Given the description of an element on the screen output the (x, y) to click on. 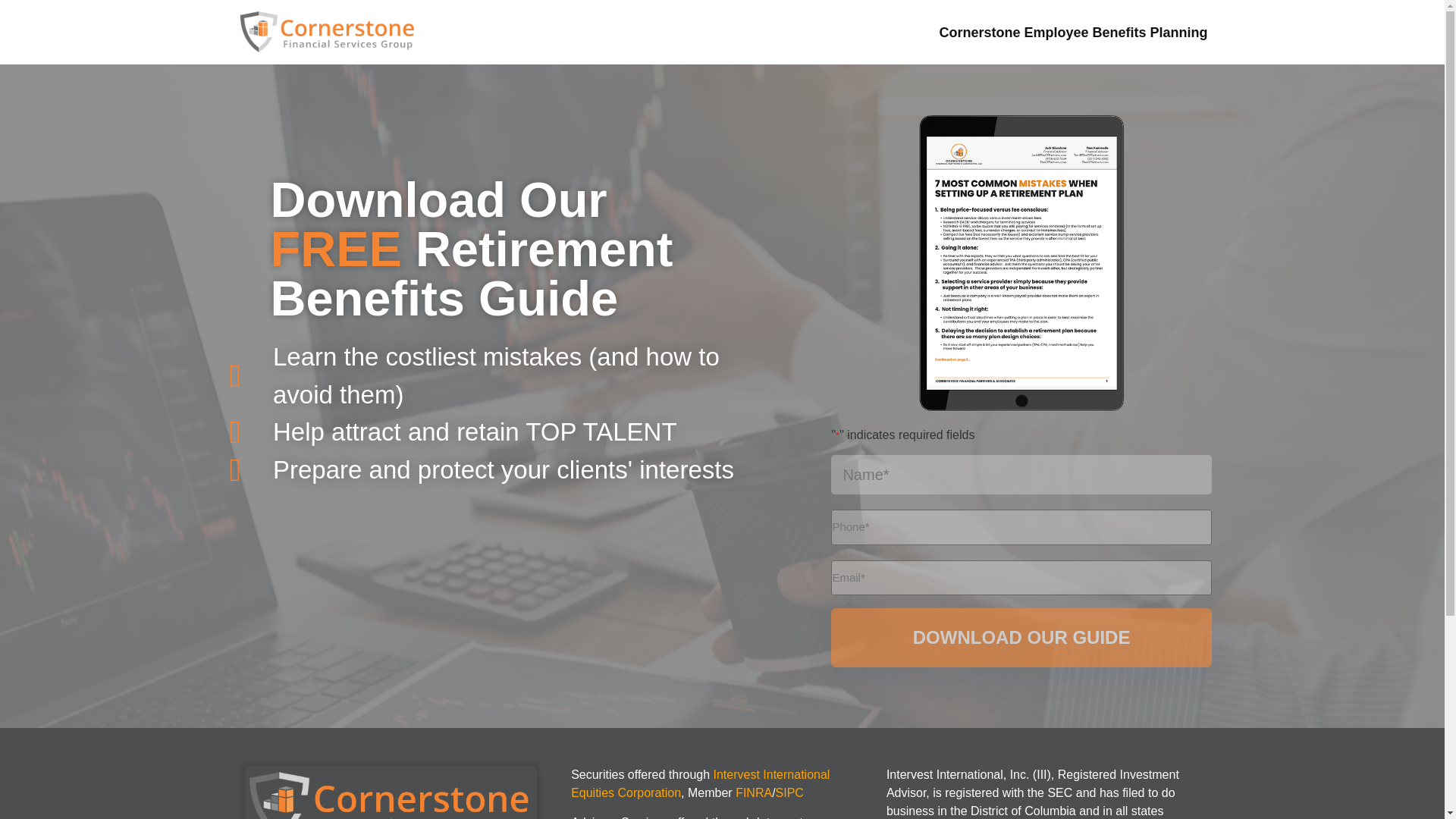
DOWNLOAD OUR GUIDE (1021, 637)
DOWNLOAD OUR GUIDE (1021, 637)
Intervest International Equities Corporation (699, 783)
FINRA (753, 792)
SIPC (789, 792)
